Given the description of an element on the screen output the (x, y) to click on. 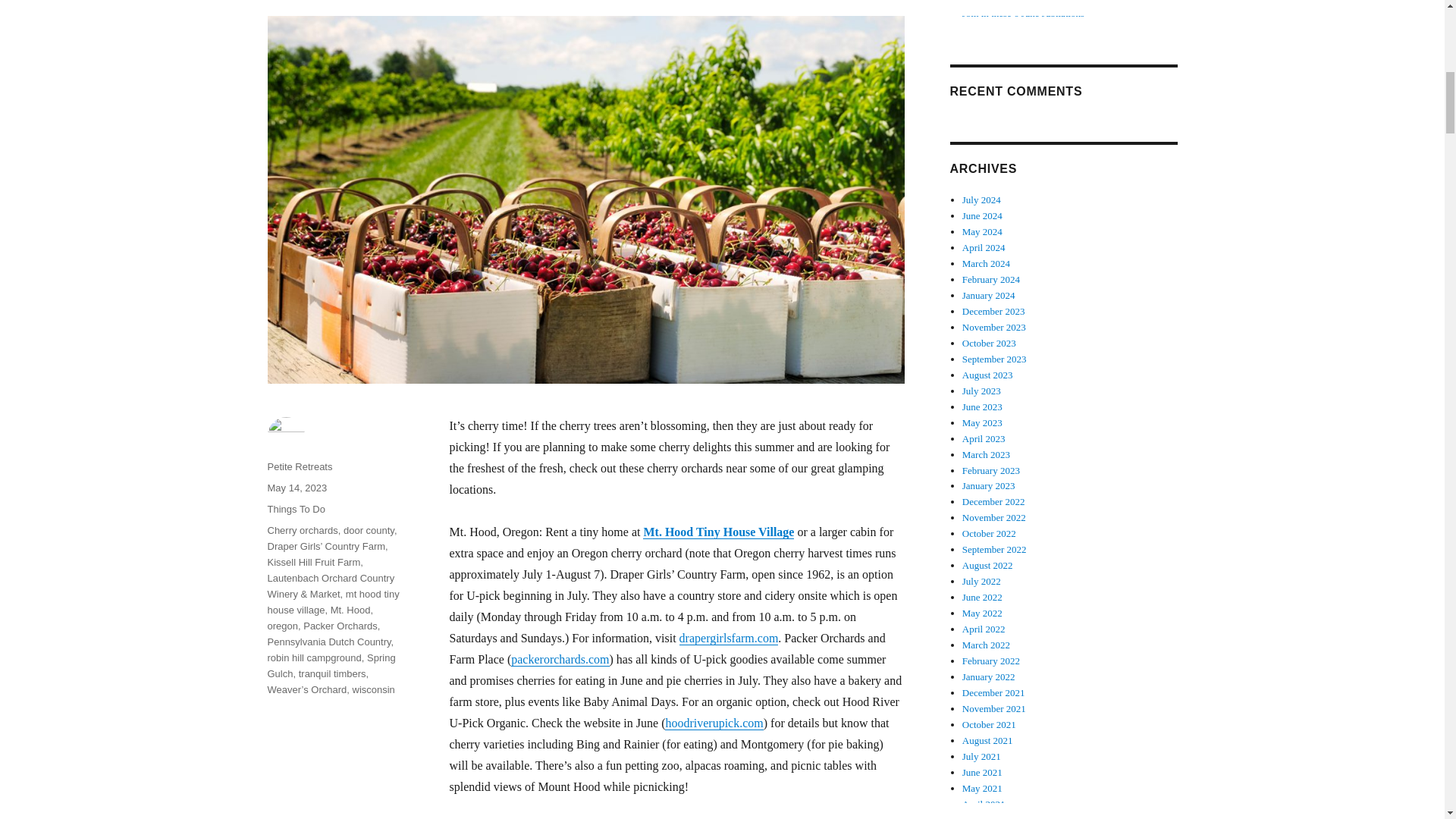
door county (368, 530)
May 14, 2023 (296, 487)
Things To Do (295, 509)
packerorchards.com (559, 658)
mt hood tiny house village (332, 601)
Packer Orchards (339, 625)
Kissell Hill Fruit Farm (312, 562)
Pennsylvania Dutch Country (328, 641)
Mt. Hood Tiny House Village (718, 531)
oregon (281, 625)
drapergirlsfarm.com (728, 637)
hoodriverupick.com (713, 722)
Cherry orchards (301, 530)
robin hill campground (313, 657)
Petite Retreats (298, 466)
